Given the description of an element on the screen output the (x, y) to click on. 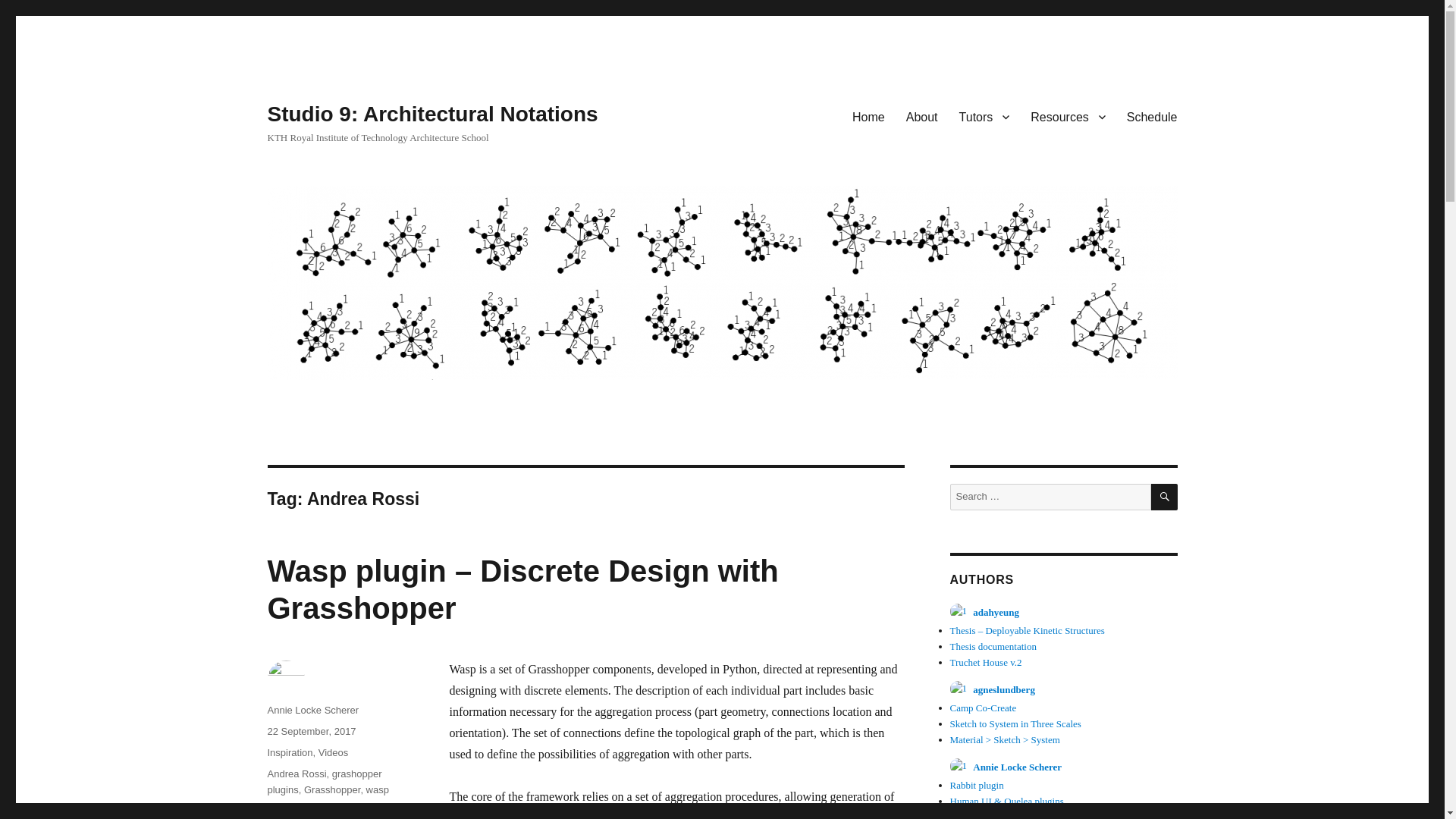
Camp Co-Create (982, 707)
Thesis documentation (992, 645)
agneslundberg (991, 689)
Videos (333, 752)
SEARCH (1164, 497)
Truchet House v.2 (985, 662)
grashopper plugins (323, 781)
22 September, 2017 (310, 731)
Thesis documentation (992, 645)
Grasshopper (331, 789)
Sketch to System in Three Scales (1014, 723)
Andrea Rossi (296, 773)
Camp Co-Create (982, 707)
Resources (1067, 116)
Home (868, 116)
